Given the description of an element on the screen output the (x, y) to click on. 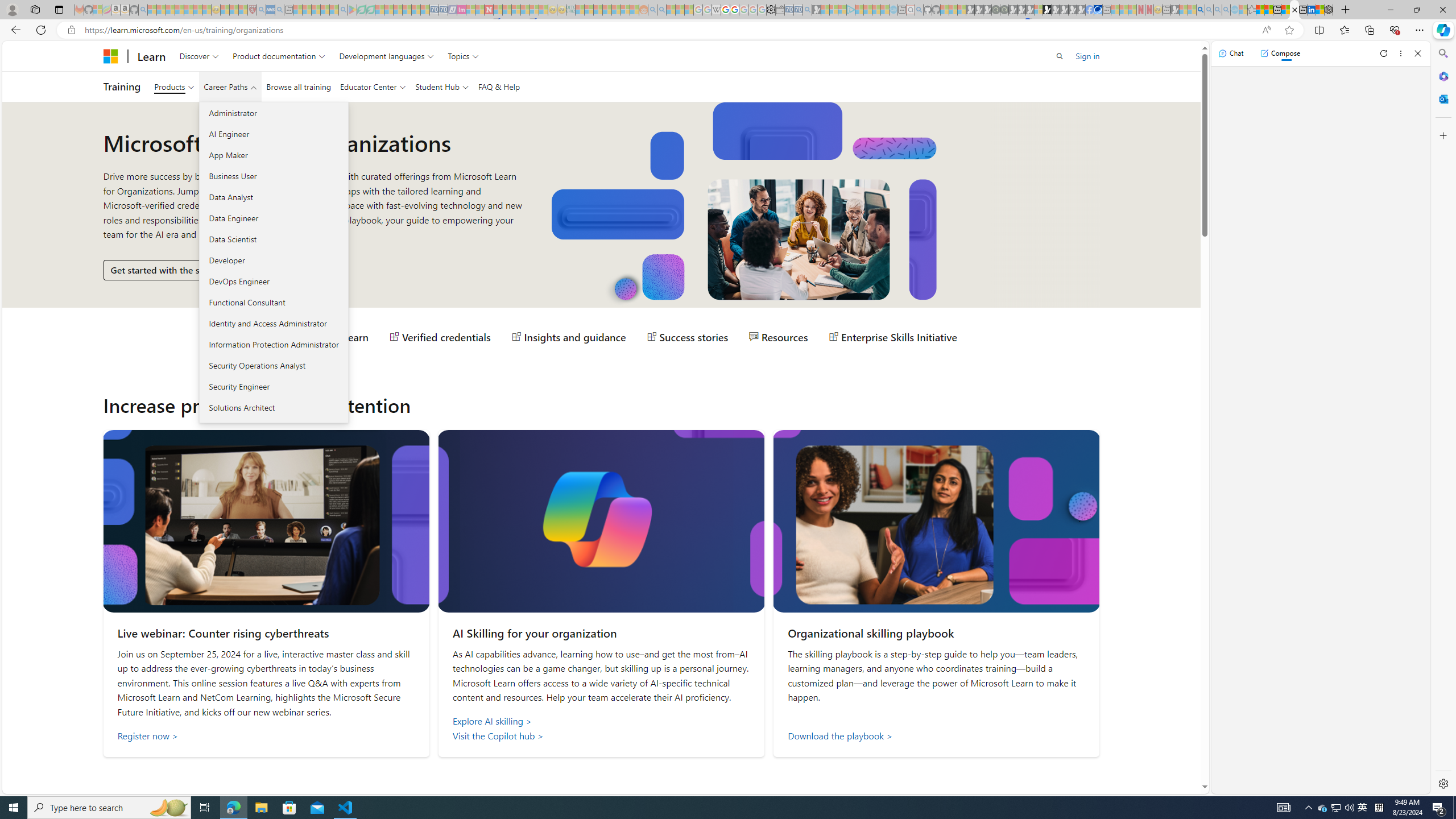
Student Hub (441, 86)
Developer (273, 260)
Data Analyst (273, 196)
Data Scientist (273, 238)
Topics (462, 55)
Solutions Architect (273, 407)
